Given the description of an element on the screen output the (x, y) to click on. 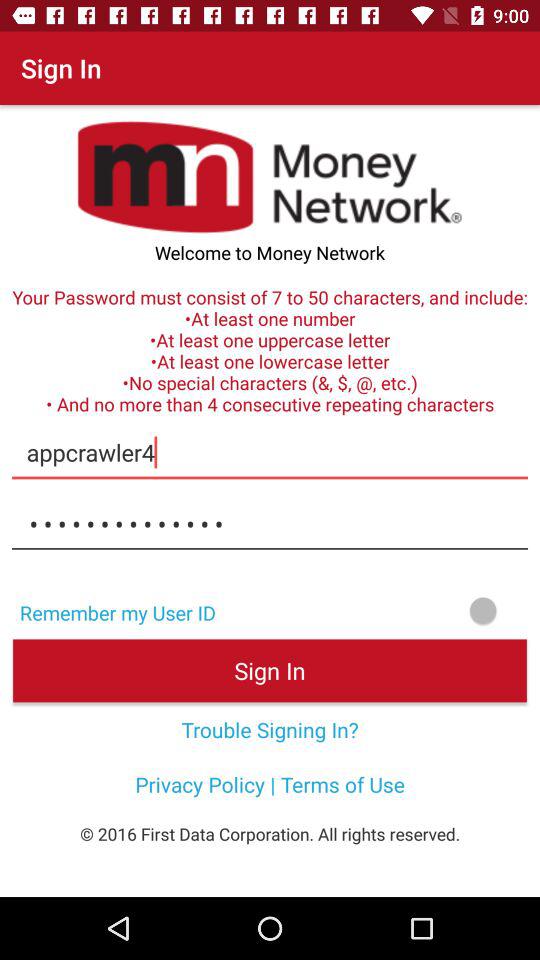
flip until trouble signing in? icon (270, 729)
